Given the description of an element on the screen output the (x, y) to click on. 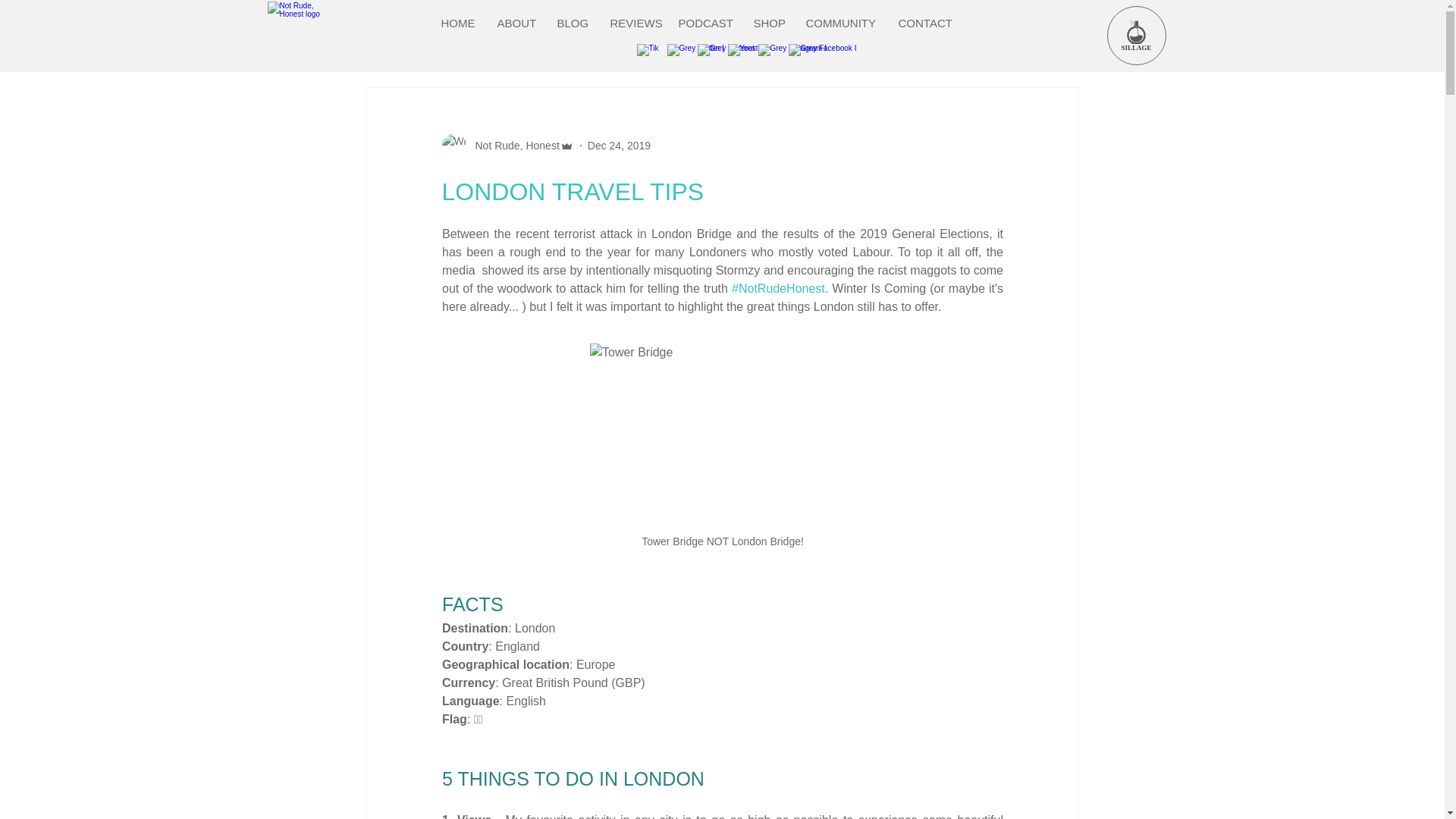
Not Rude, Honest (512, 145)
BLOG (572, 22)
SILLAGE (1136, 35)
Dec 24, 2019 (619, 145)
PODCAST (704, 22)
ABOUT (516, 22)
CONTACT (924, 22)
Not Rude, Honest (507, 145)
SHOP (768, 22)
HOME (458, 22)
